Given the description of an element on the screen output the (x, y) to click on. 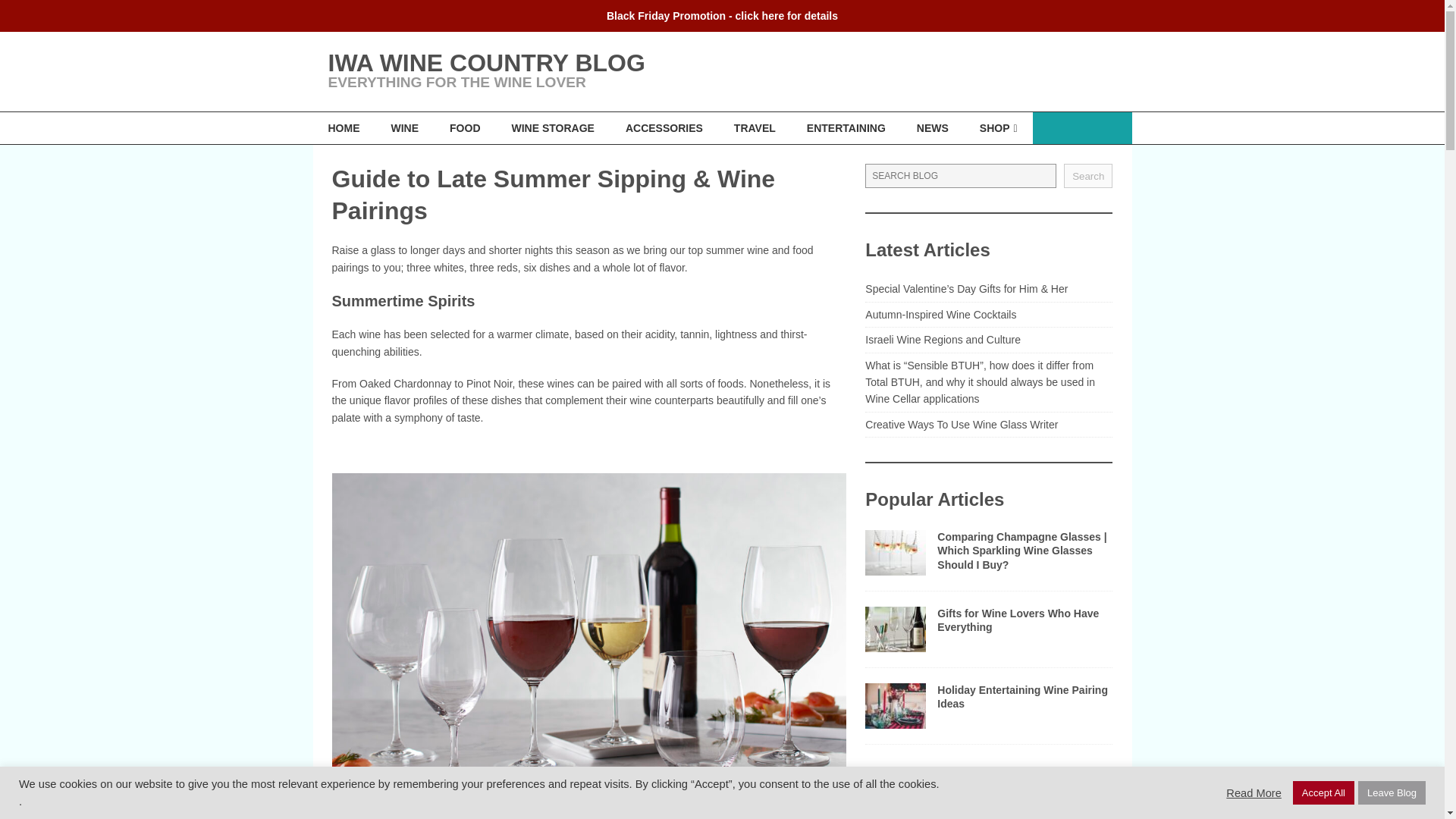
WINE STORAGE (553, 128)
SHOP (997, 128)
FOOD (464, 128)
ACCESSORIES (663, 128)
ENTERTAINING (845, 128)
Riedel Vinum Collection (383, 817)
